Given the description of an element on the screen output the (x, y) to click on. 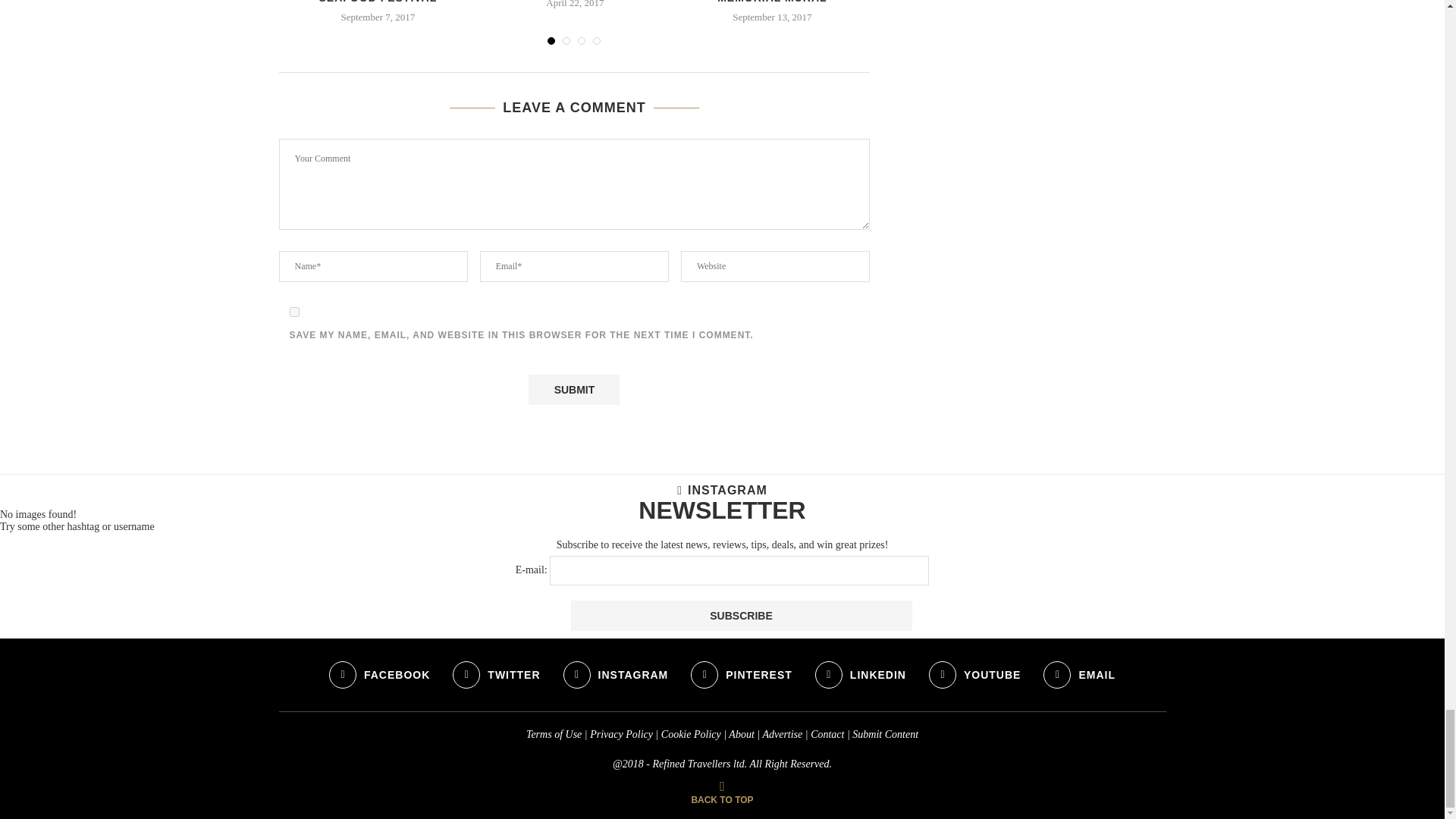
yes (294, 311)
Subscribe (740, 615)
Submit (574, 389)
